Given the description of an element on the screen output the (x, y) to click on. 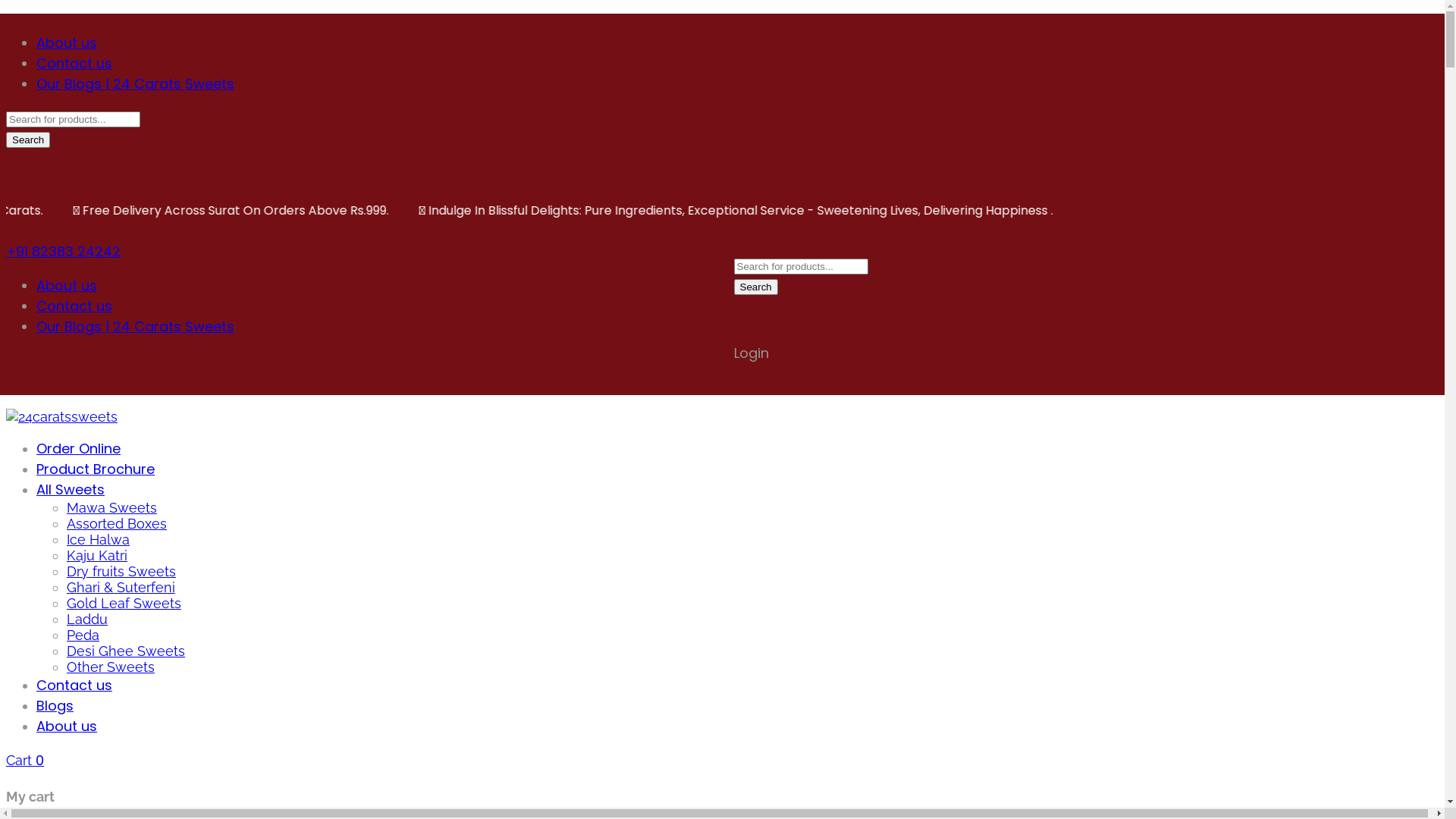
Assorted Boxes Element type: text (116, 523)
Our Blogs | 24 Carats Sweets Element type: text (135, 325)
Our Blogs | 24 Carats Sweets Element type: text (135, 83)
About us Element type: text (66, 42)
Order Online Element type: text (78, 448)
Dry fruits Sweets Element type: text (120, 571)
Contact us Element type: text (74, 62)
Blogs Element type: text (54, 705)
Ice Halwa Element type: text (97, 539)
Peda Element type: text (82, 635)
Desi Ghee Sweets Element type: text (125, 650)
Product Brochure Element type: text (95, 468)
Login Element type: text (751, 352)
Ghari & Suterfeni Element type: text (120, 587)
Laddu Element type: text (86, 619)
Contact us Element type: text (74, 684)
About us Element type: text (66, 285)
About us Element type: text (66, 725)
Search Element type: text (28, 139)
Contact us Element type: text (74, 305)
Kaju Katri Element type: text (96, 555)
Search Element type: text (756, 286)
Gold Leaf Sweets Element type: text (123, 603)
Other Sweets Element type: text (110, 666)
+91 82383 24242 Element type: text (63, 250)
Mawa Sweets Element type: text (111, 507)
All Sweets Element type: text (70, 489)
24caratssweets Element type: hover (61, 416)
Cart 0 Element type: text (24, 760)
